Given the description of an element on the screen output the (x, y) to click on. 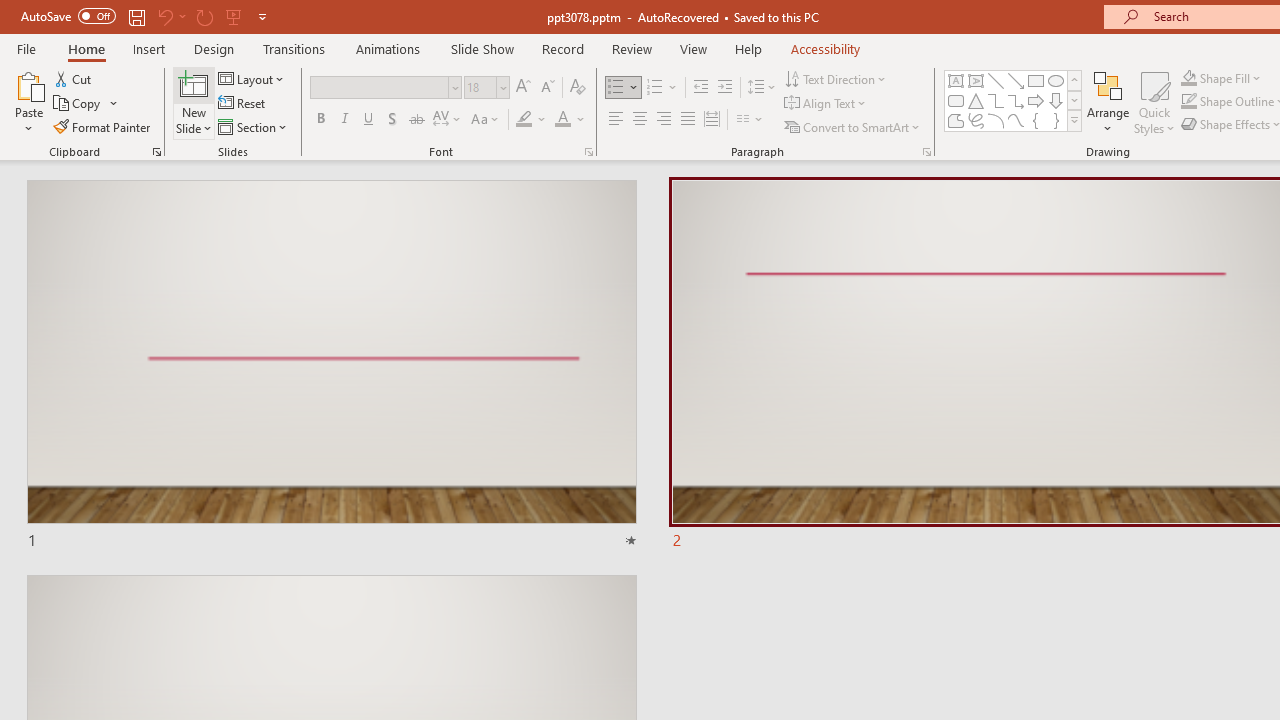
Decrease Font Size (547, 87)
Increase Font Size (522, 87)
Freeform: Shape (955, 120)
Align Text (826, 103)
Arrange (1108, 102)
Decrease Indent (700, 87)
Section (254, 126)
Left Brace (1035, 120)
Font Color Red (562, 119)
